Given the description of an element on the screen output the (x, y) to click on. 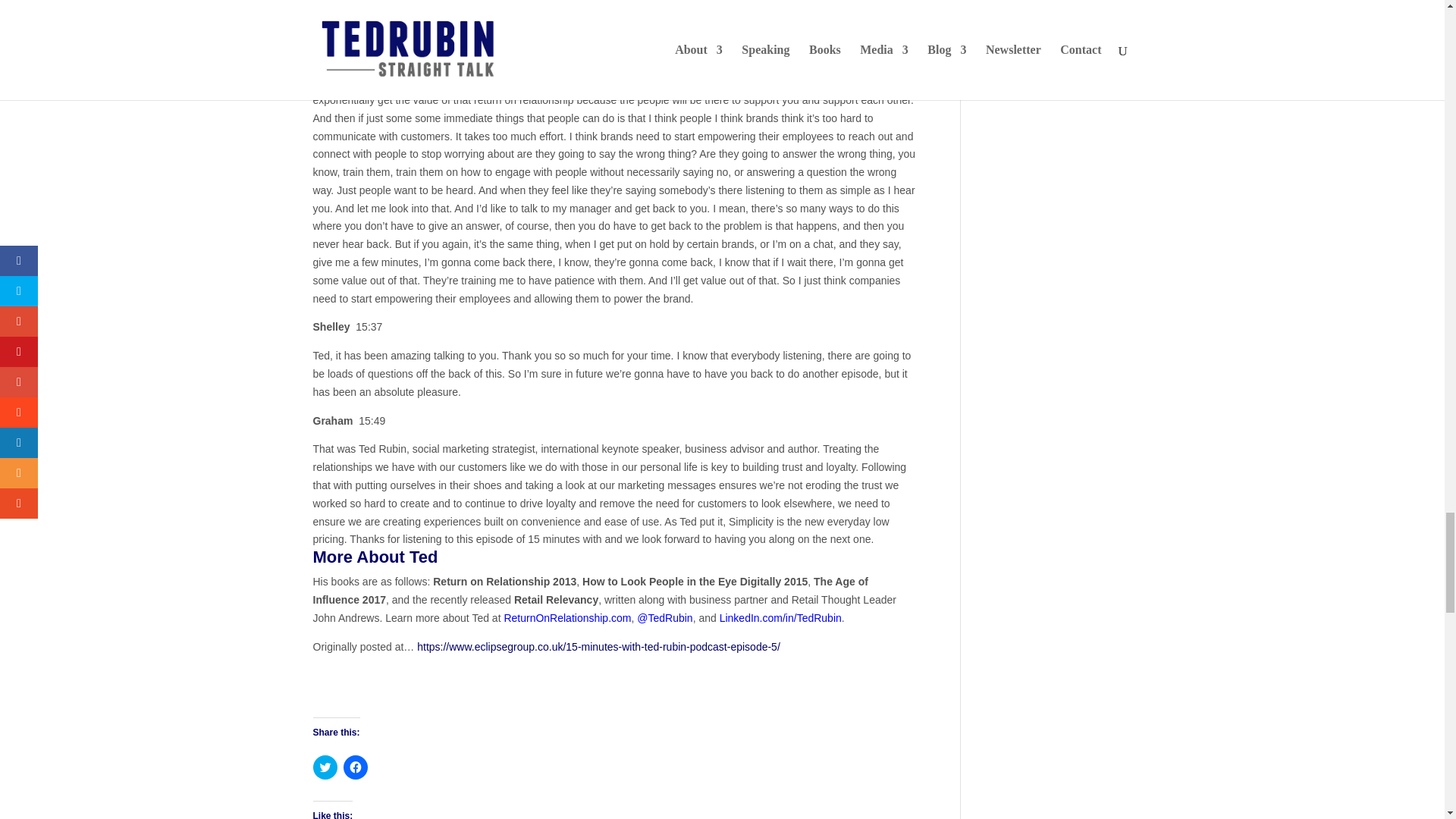
ReturnOnRelationship.com (566, 617)
Click to share on Twitter (324, 767)
Click to share on Facebook (354, 767)
